Given the description of an element on the screen output the (x, y) to click on. 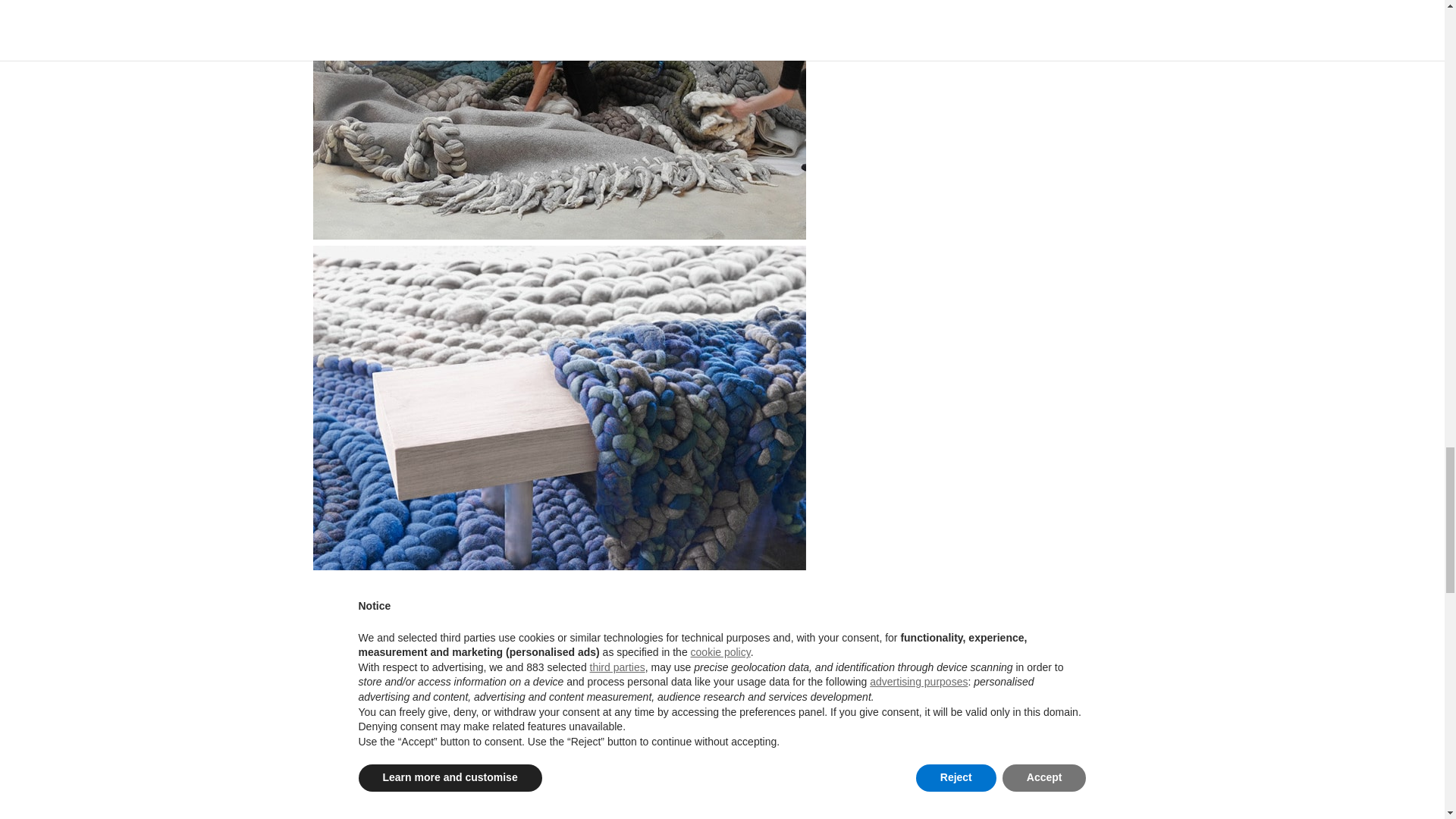
 - COVER magazine (559, 119)
 - COVER magazine (559, 699)
